Given the description of an element on the screen output the (x, y) to click on. 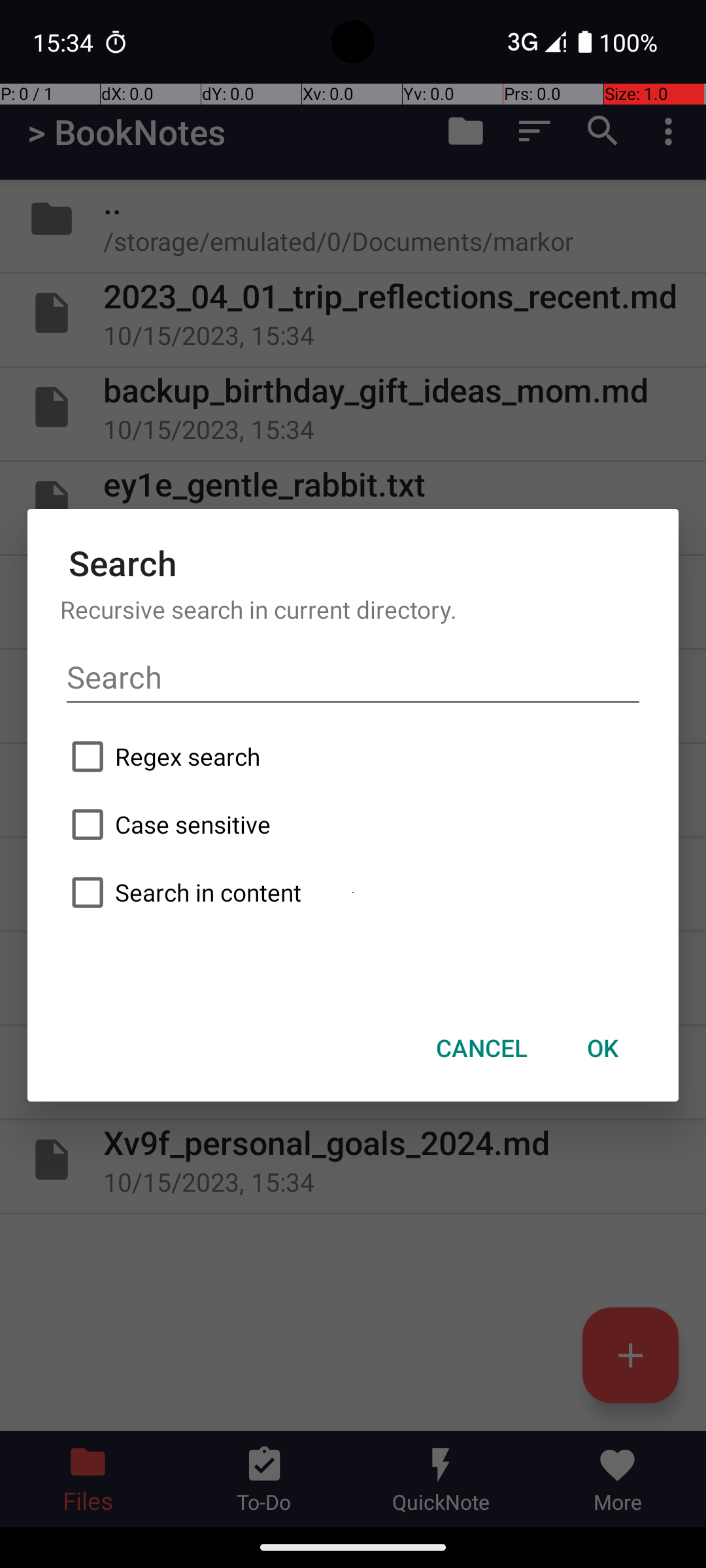
Recursive search in current directory. Element type: android.widget.TextView (352, 608)
Regex search Element type: android.widget.CheckBox (352, 756)
Case sensitive Element type: android.widget.CheckBox (352, 824)
Search in content Element type: android.widget.CheckBox (352, 892)
